Given the description of an element on the screen output the (x, y) to click on. 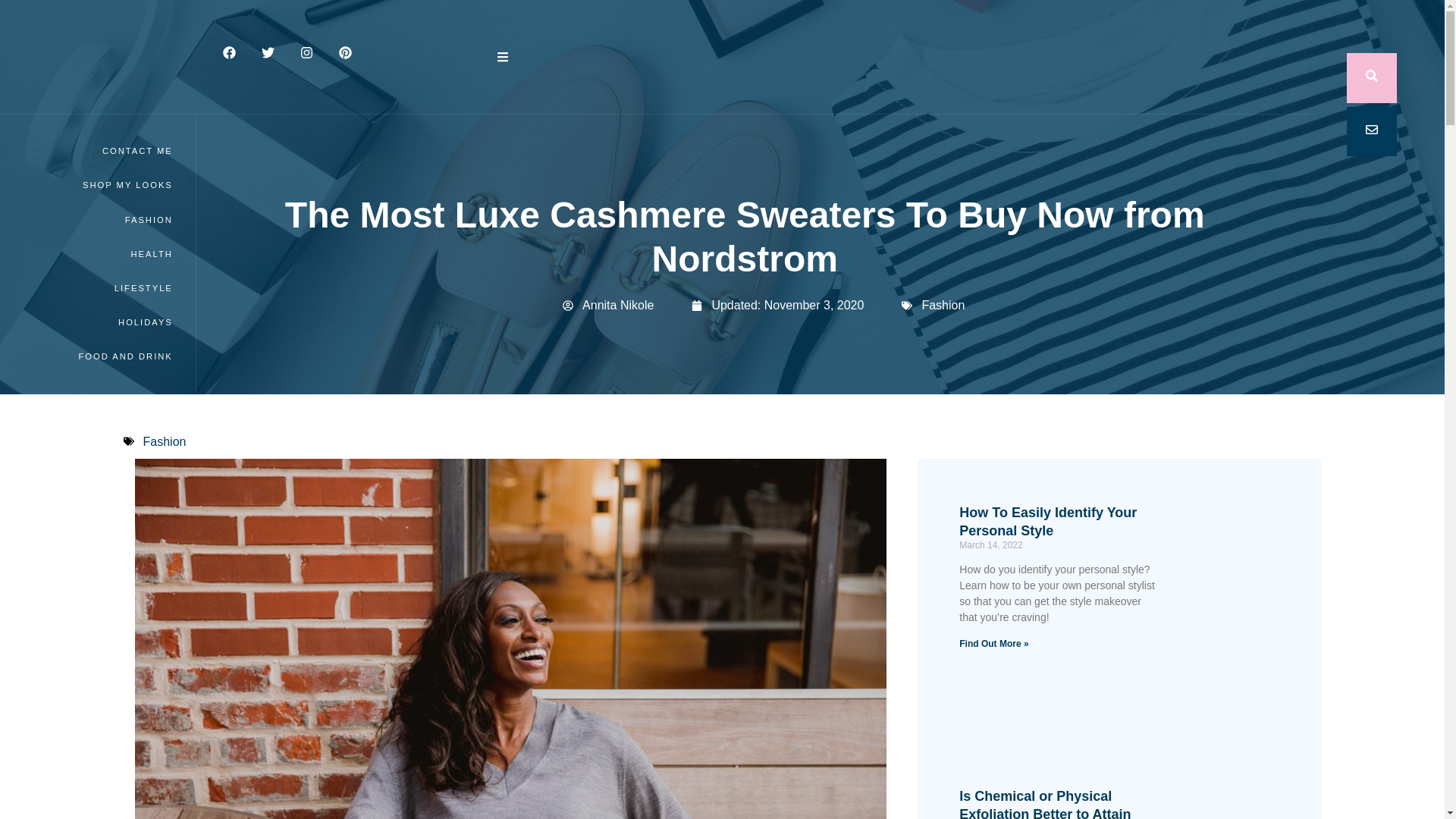
FOOD AND DRINK (93, 357)
Updated: November 3, 2020 (777, 305)
HOLIDAYS (93, 322)
CONTACT ME (93, 151)
SHOP MY LOOKS (93, 185)
Annita Nikole (607, 305)
LIFESTYLE (93, 288)
HEALTH (93, 254)
FASHION (93, 220)
Fashion (942, 305)
